Given the description of an element on the screen output the (x, y) to click on. 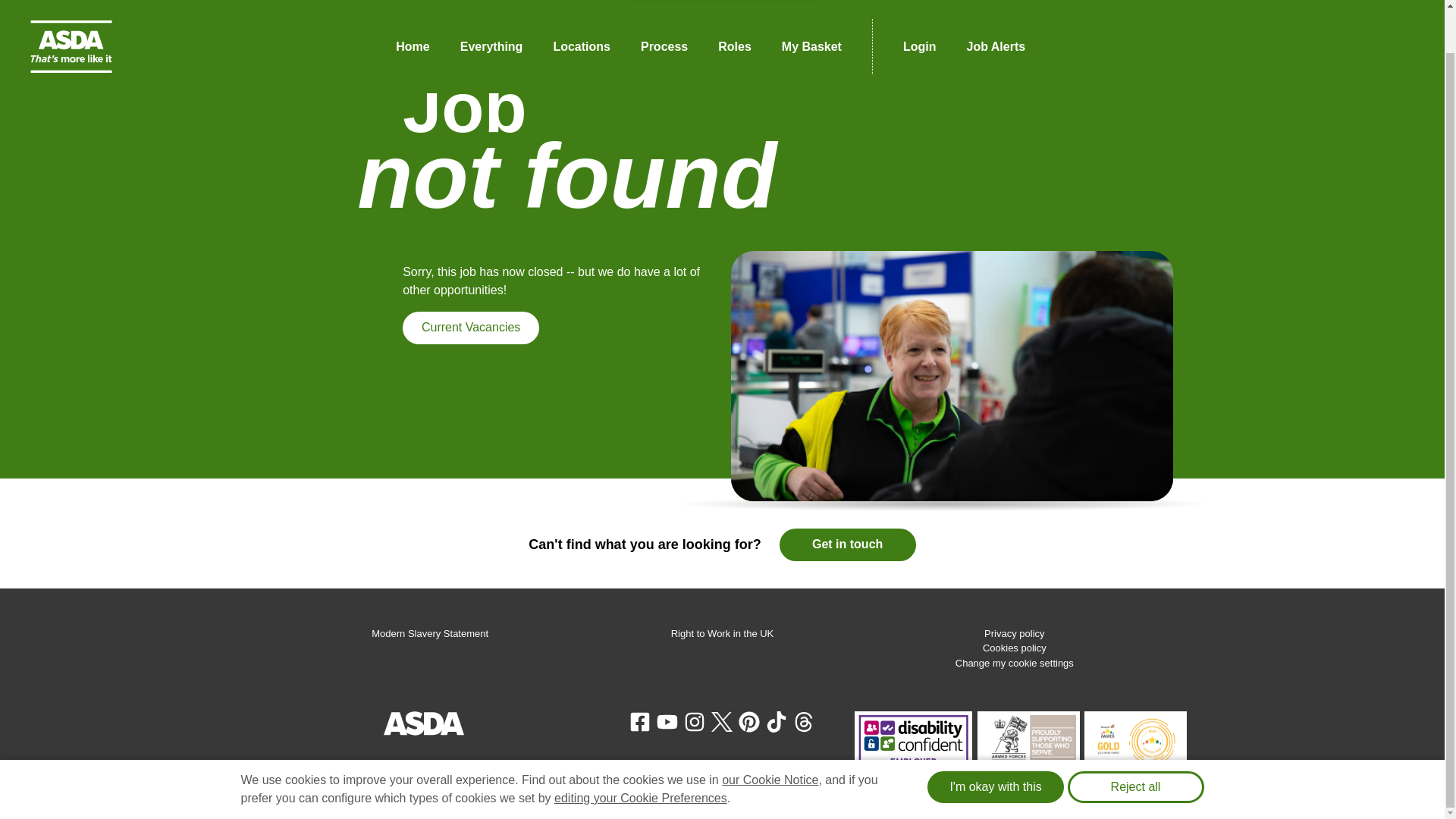
Process (664, 14)
Change my cookie settings (1014, 663)
Home (412, 14)
Privacy policy (1013, 633)
our Cookie Notice (770, 734)
I'm okay with this (995, 741)
Job Alerts (995, 14)
Cookies policy (1014, 647)
Locations (581, 14)
Roles (735, 14)
Modern Slavery Statement (429, 633)
Reject all (1135, 741)
My Basket (812, 14)
Get in touch (846, 544)
Everything (491, 14)
